Given the description of an element on the screen output the (x, y) to click on. 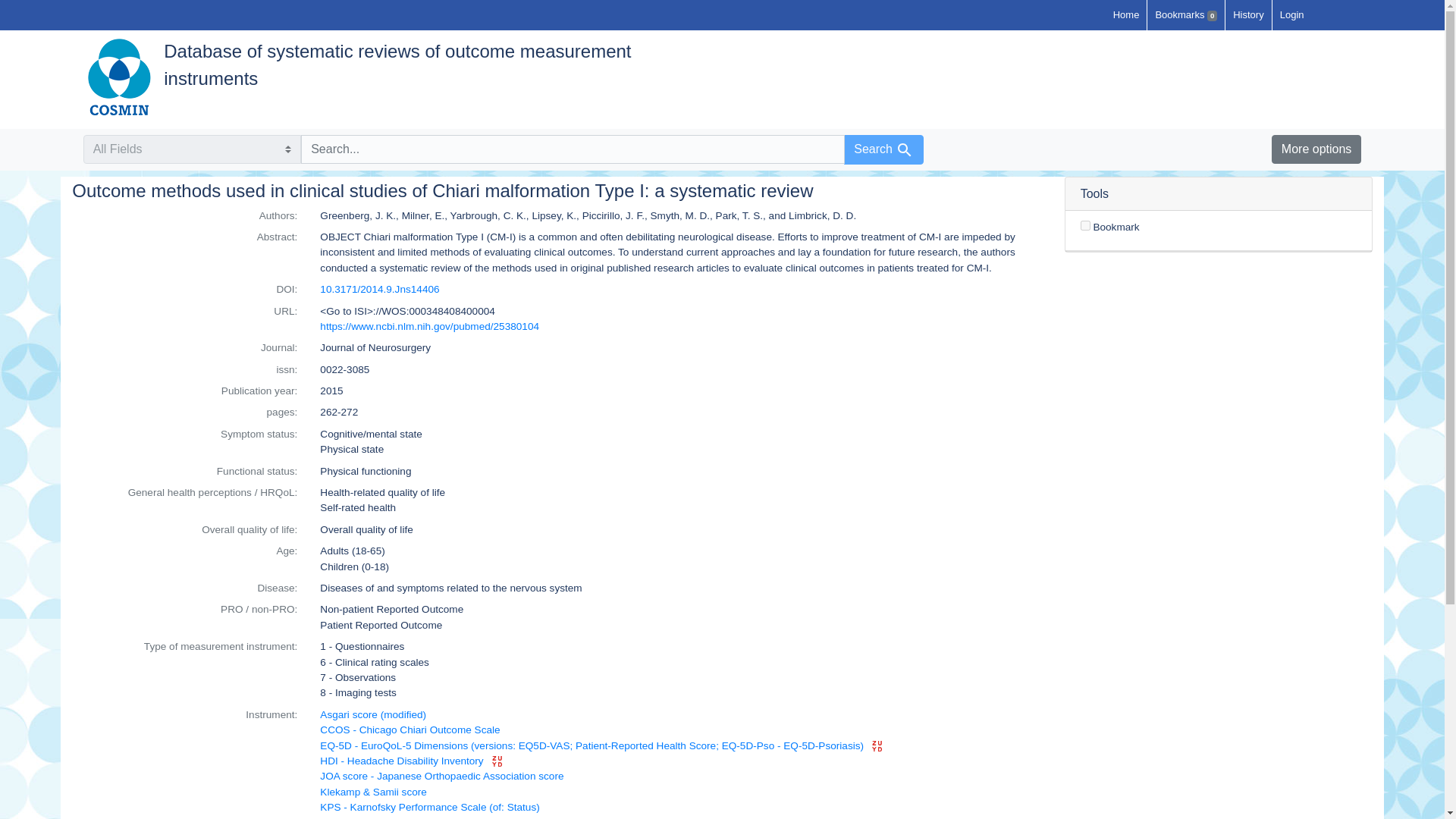
Home (1126, 15)
Search Search (883, 149)
Limonadi score (355, 817)
Skip to search (34, 9)
Search (904, 149)
More options (1316, 149)
CCOS - Chicago Chiari Outcome Scale (409, 729)
Skip to main content (36, 9)
History (1248, 15)
Bookmarks 0 (1185, 15)
